Given the description of an element on the screen output the (x, y) to click on. 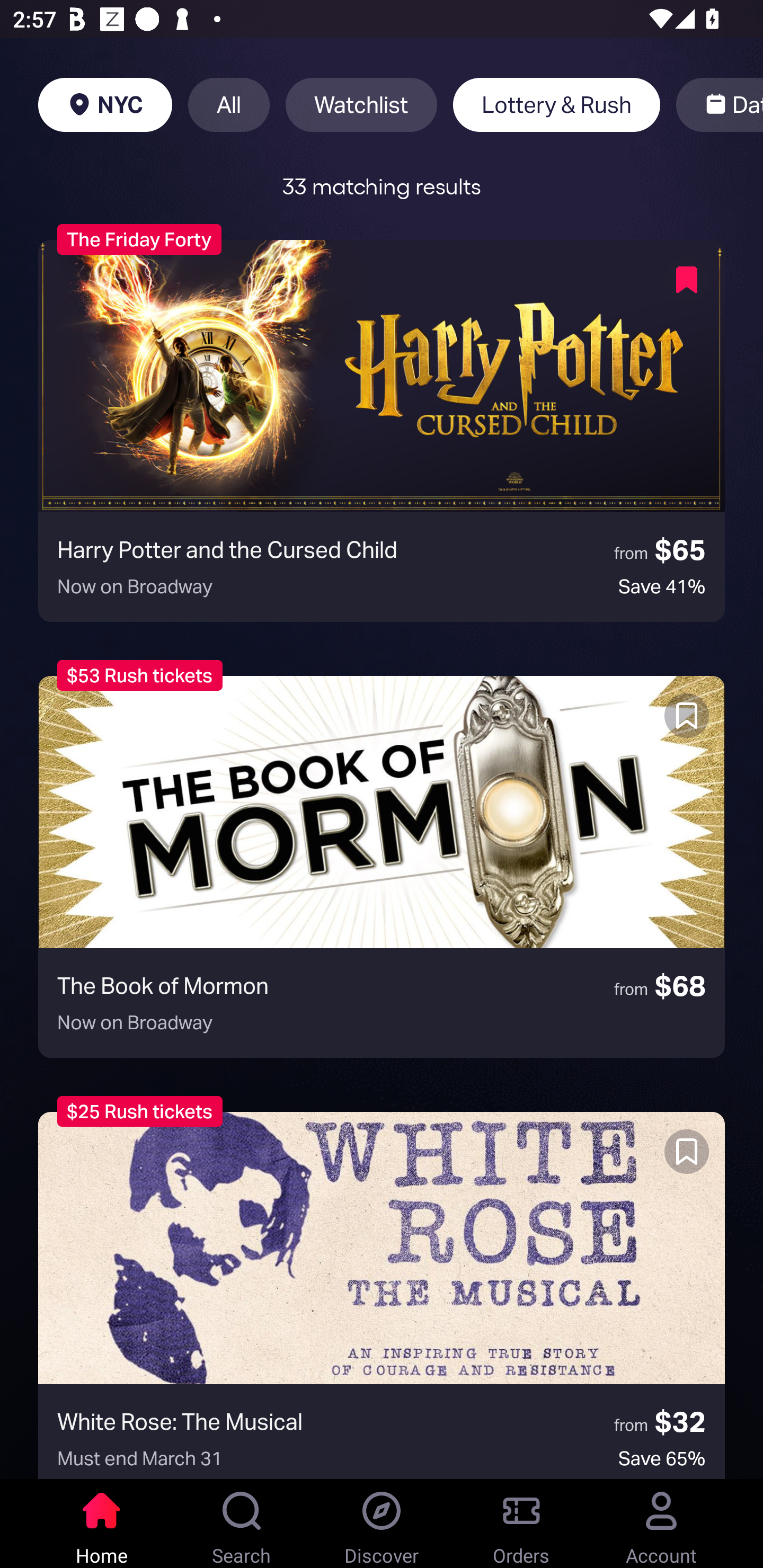
NYC (105, 104)
All (228, 104)
Watchlist (361, 104)
Lottery & Rush (556, 104)
The Book of Mormon from $68 Now on Broadway (381, 866)
Search (241, 1523)
Discover (381, 1523)
Orders (521, 1523)
Account (660, 1523)
